Given the description of an element on the screen output the (x, y) to click on. 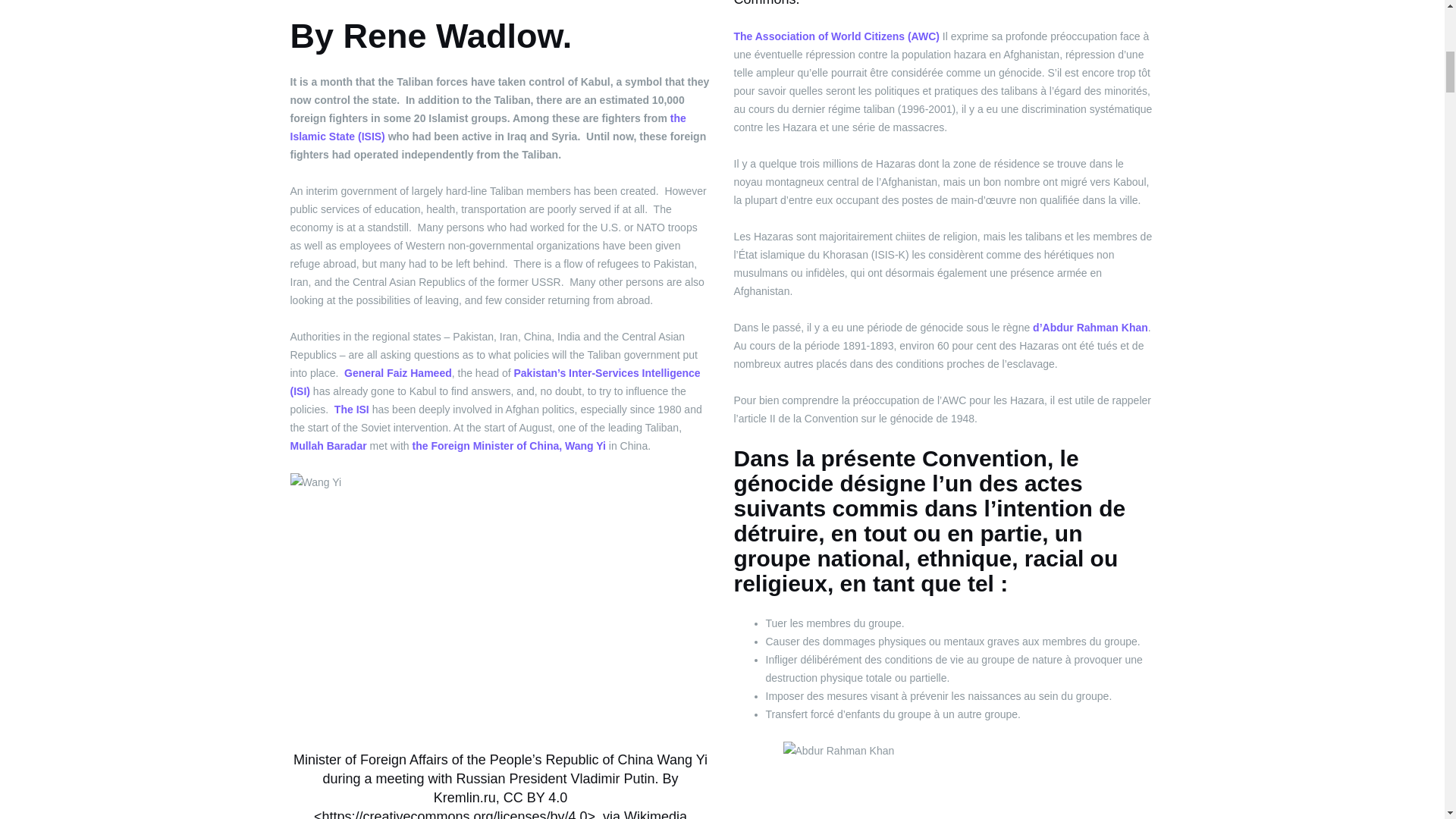
The ISI (350, 409)
the Foreign Minister of China, Wang Yi (508, 445)
General Faiz Hameed (397, 372)
Mullah Baradar (327, 445)
